Given the description of an element on the screen output the (x, y) to click on. 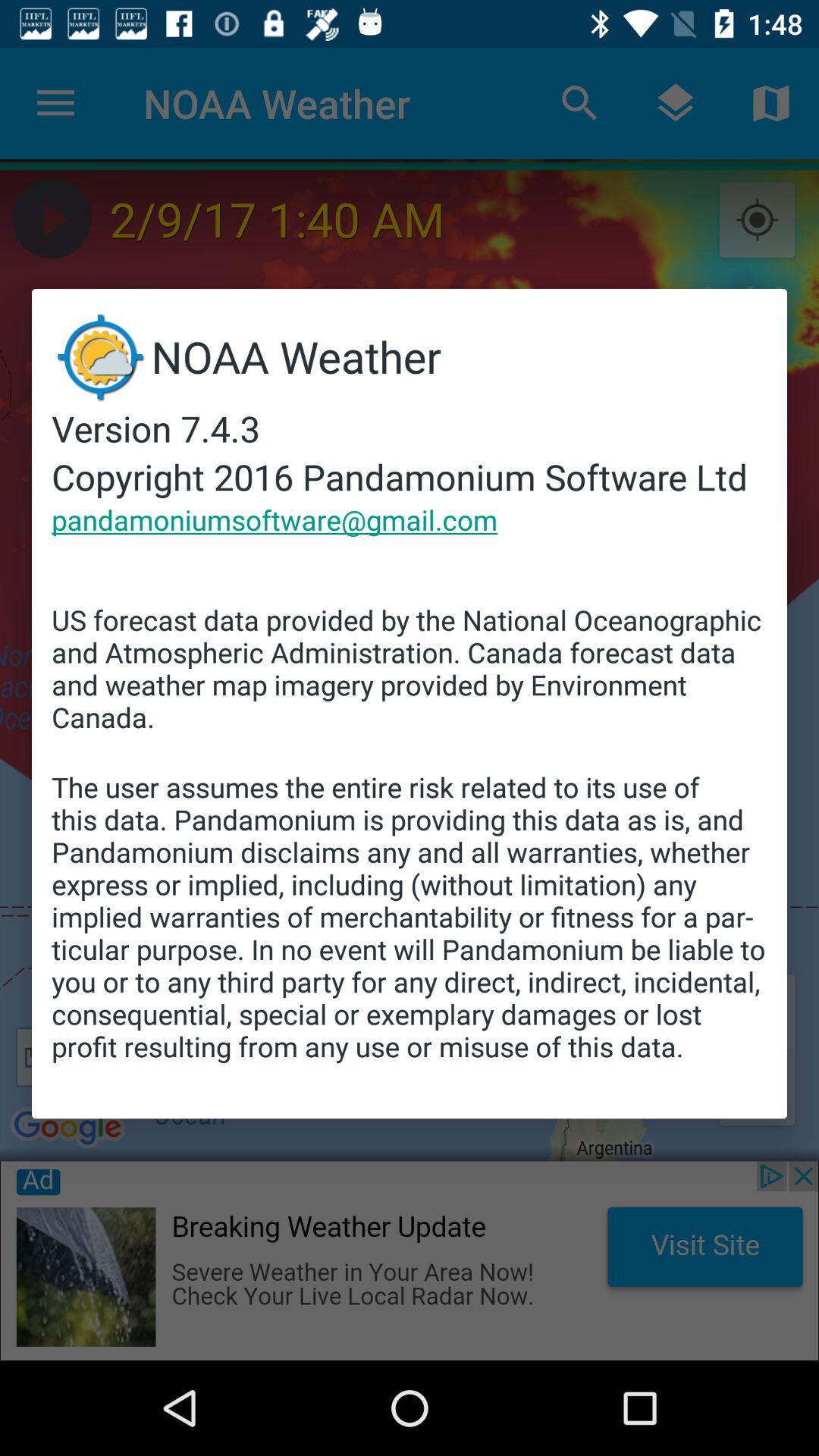
turn off pandamoniumsoftware@gmail.com icon (274, 519)
